Given the description of an element on the screen output the (x, y) to click on. 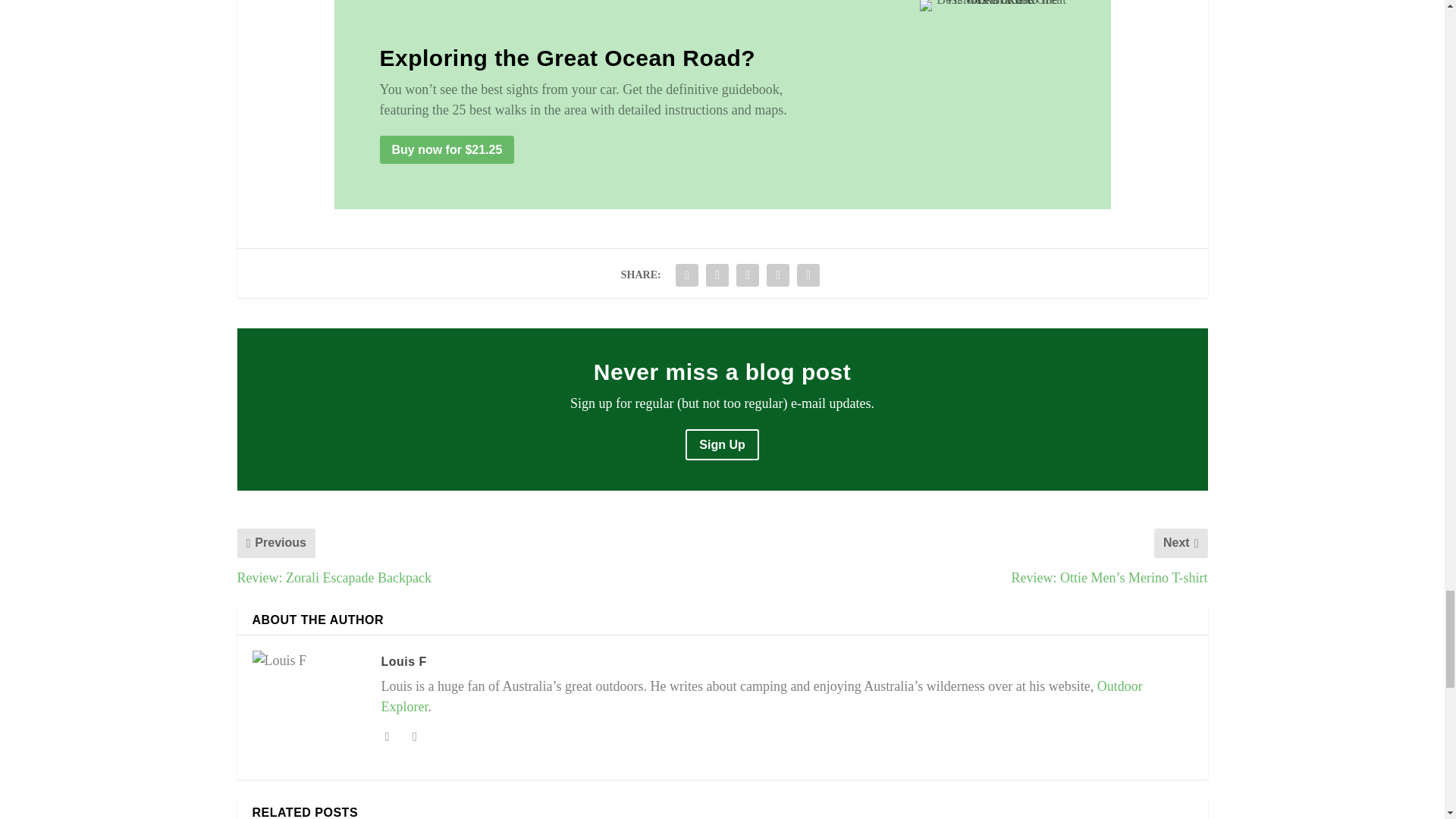
gor-cta (995, 5)
